Given the description of an element on the screen output the (x, y) to click on. 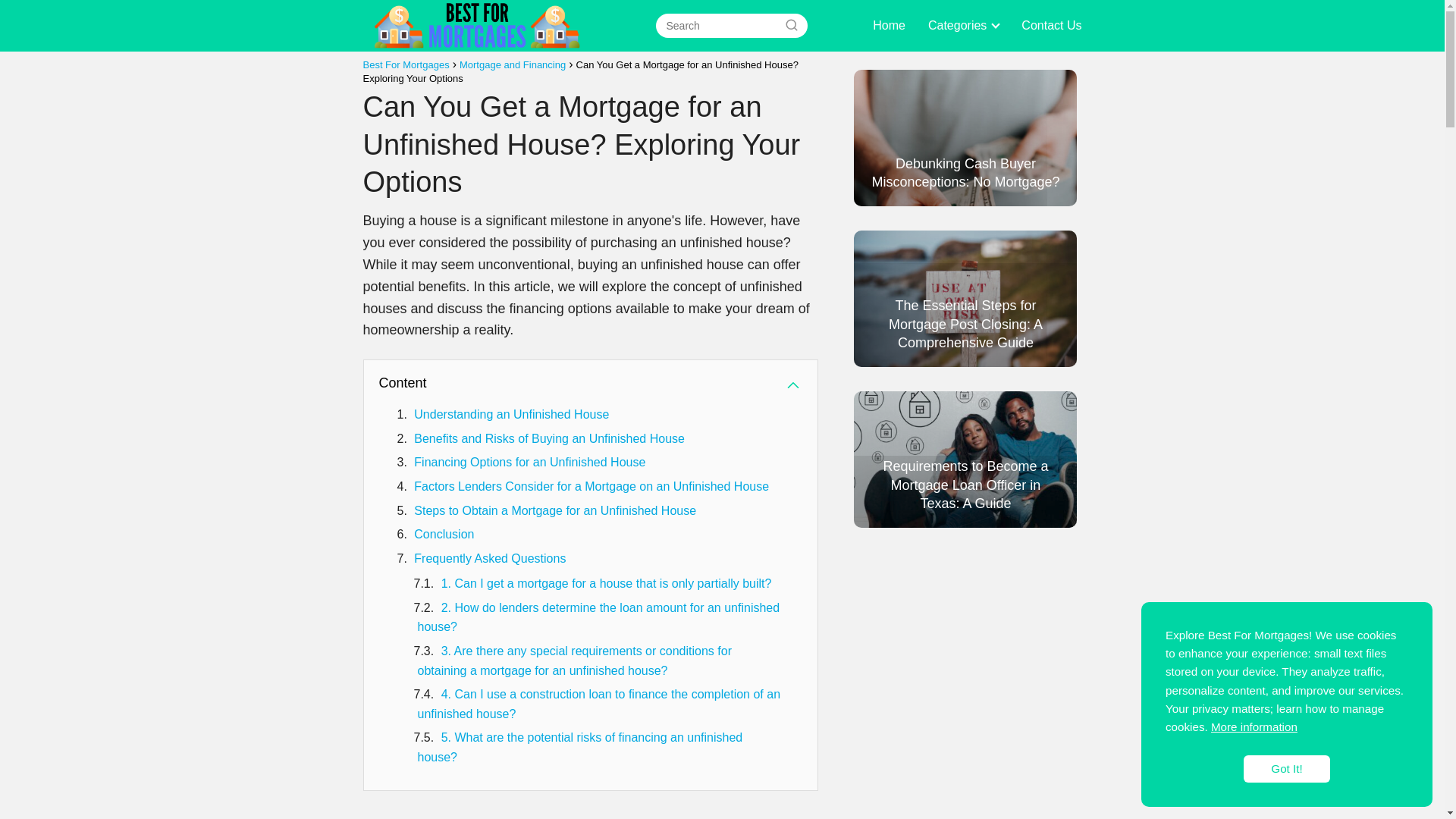
Best For Mortgages (405, 64)
Conclusion (443, 533)
Conclusion (443, 533)
Frequently Asked Questions (489, 558)
Financing Options for an Unfinished House (529, 461)
Mortgage and Financing (513, 64)
Categories (960, 24)
Contact Us (1051, 24)
